Given the description of an element on the screen output the (x, y) to click on. 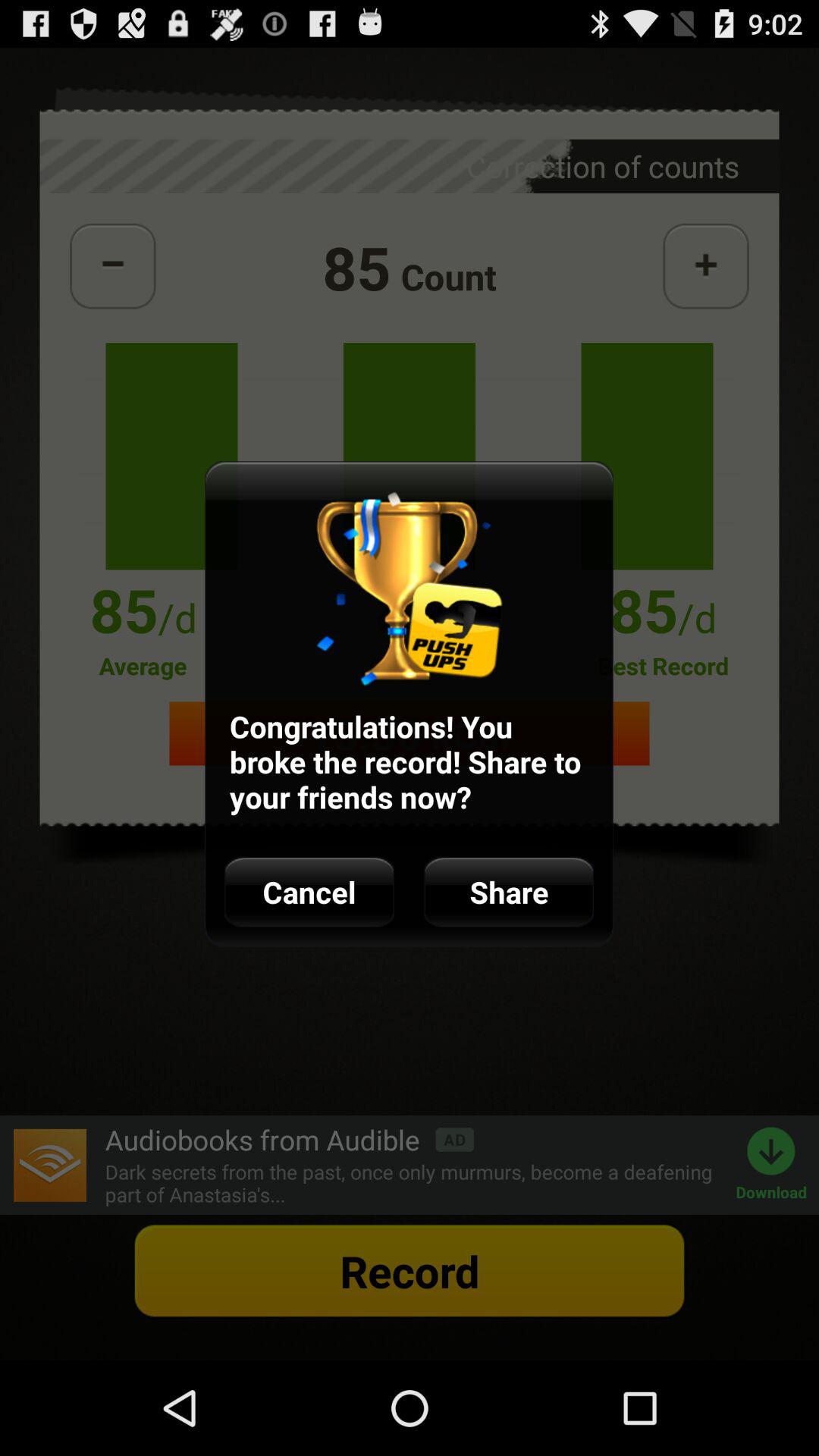
scroll until cancel icon (309, 892)
